Given the description of an element on the screen output the (x, y) to click on. 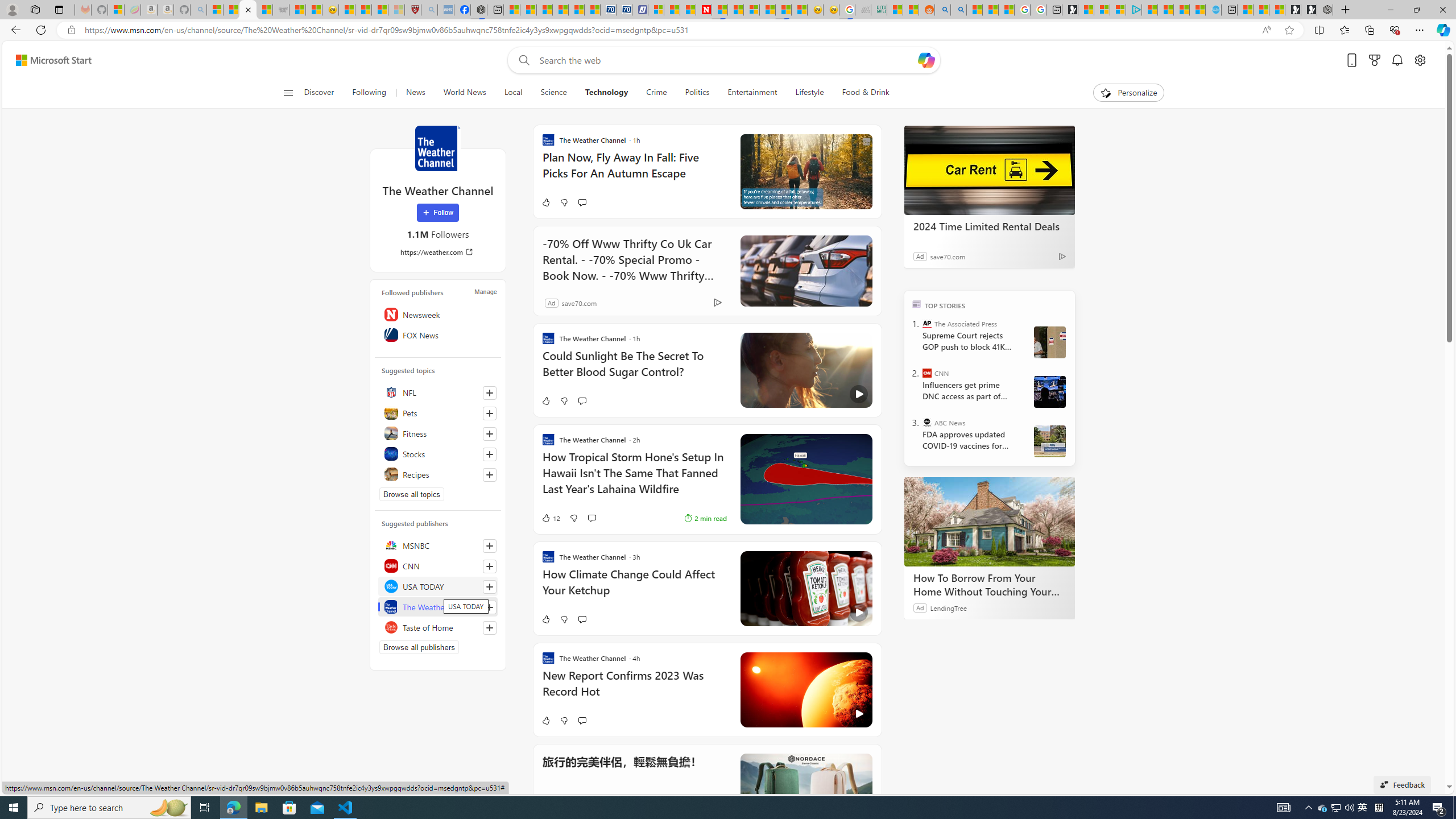
NFL (437, 392)
The Associated Press (927, 323)
TOP (916, 302)
The Weather Channel (437, 148)
